Given the description of an element on the screen output the (x, y) to click on. 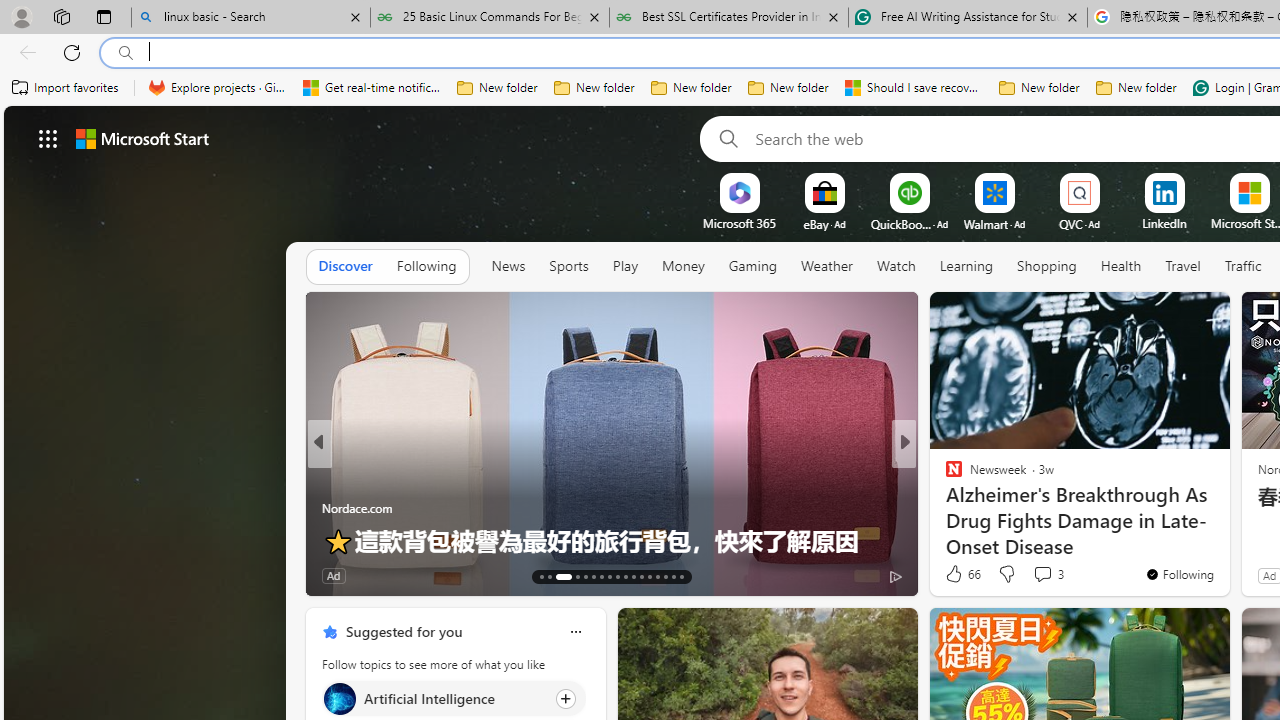
PC World (944, 475)
Sports (568, 265)
Shape (944, 507)
Sports (569, 267)
Health (1121, 267)
Class: icon-img (575, 632)
Nordace (959, 475)
AutomationID: tab-18 (592, 576)
Eco Hugo (329, 475)
AutomationID: tab-17 (585, 576)
View comments 16 Comment (1042, 575)
Housely (944, 507)
Import favorites (65, 88)
